Given the description of an element on the screen output the (x, y) to click on. 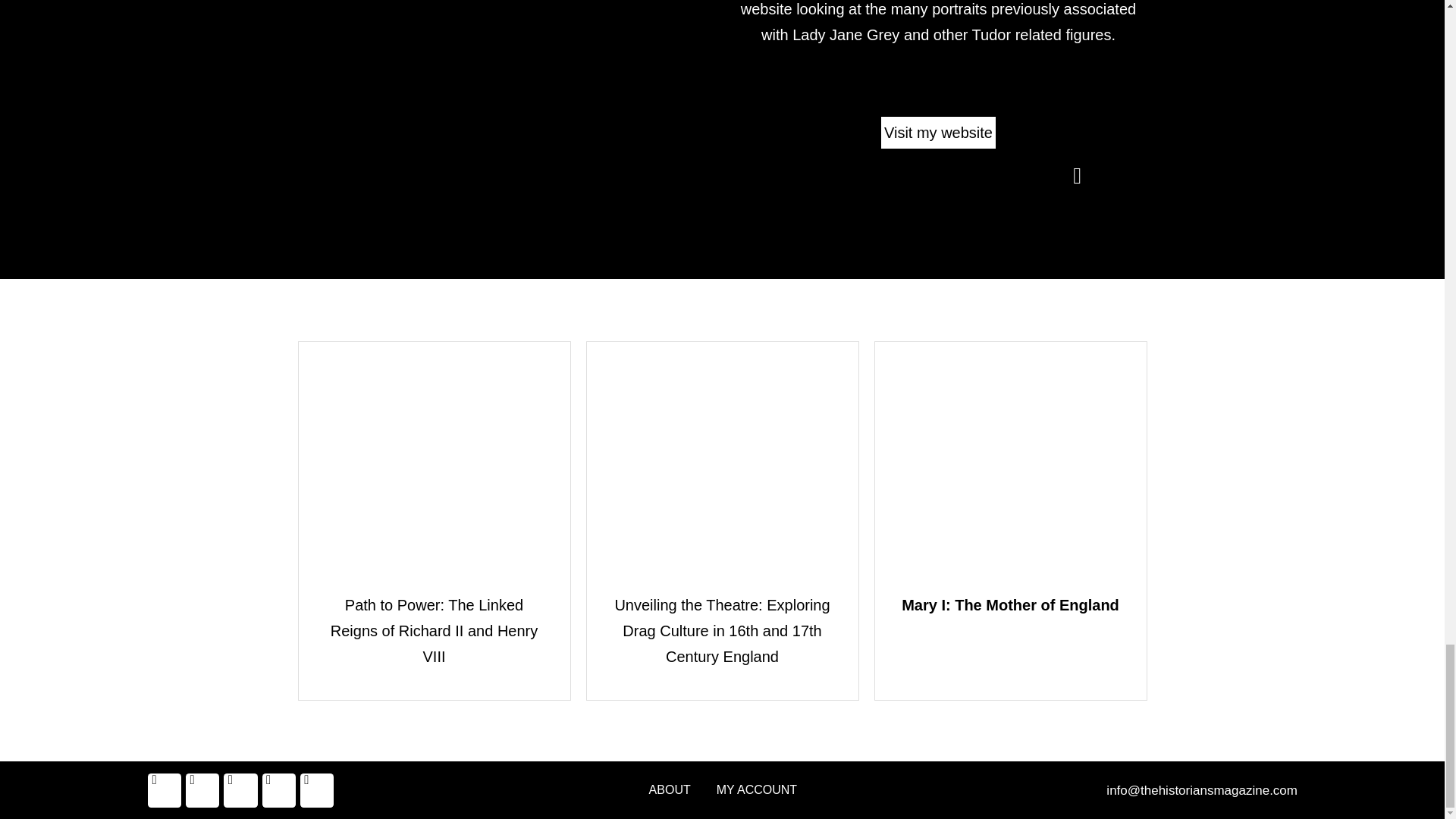
MY ACCOUNT (756, 790)
Visit my website (937, 132)
Mary I: The Mother of England (1010, 605)
ABOUT (669, 790)
